Given the description of an element on the screen output the (x, y) to click on. 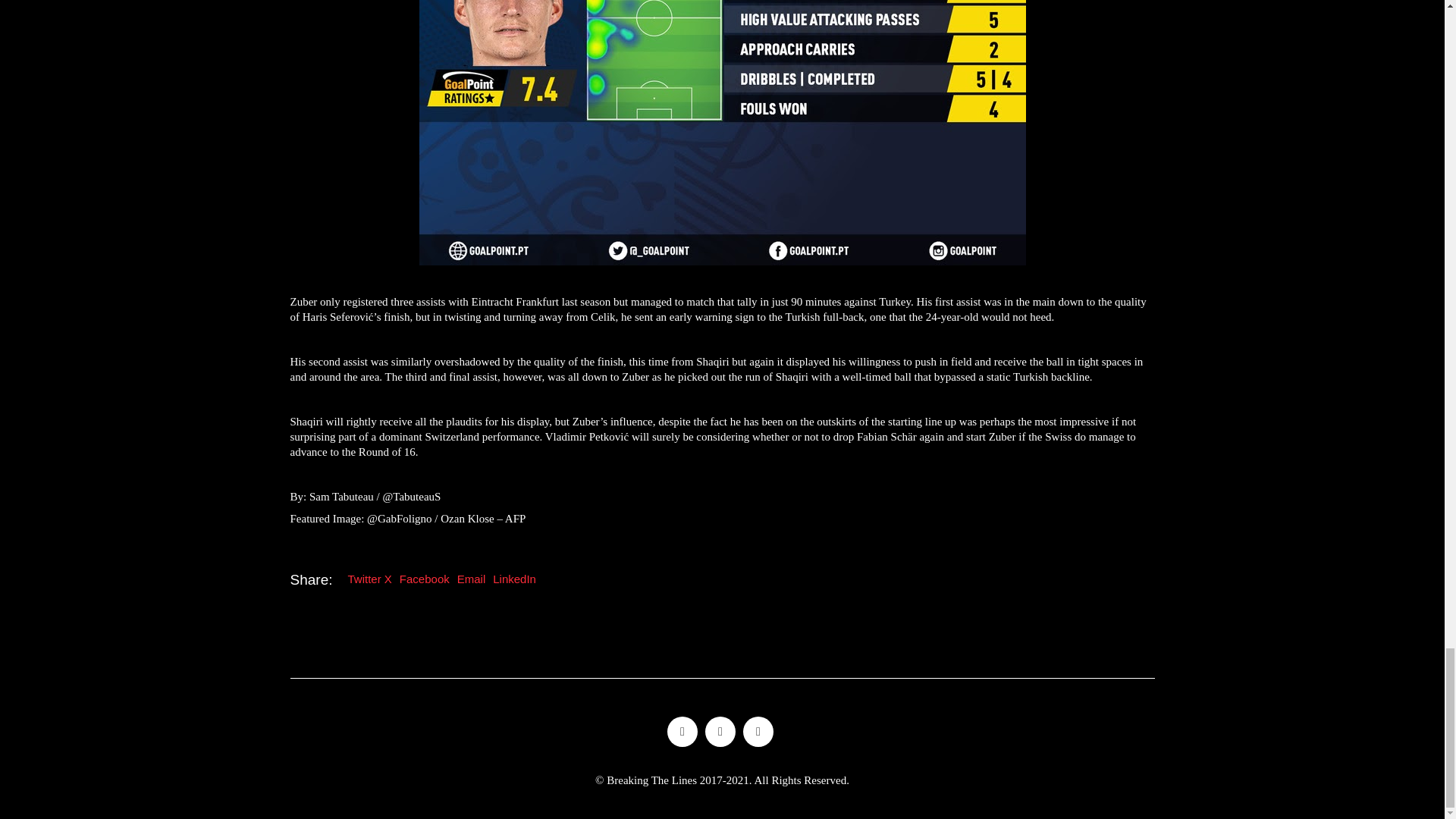
Facebook (719, 731)
YouTube (757, 731)
Twitter (681, 731)
